Given the description of an element on the screen output the (x, y) to click on. 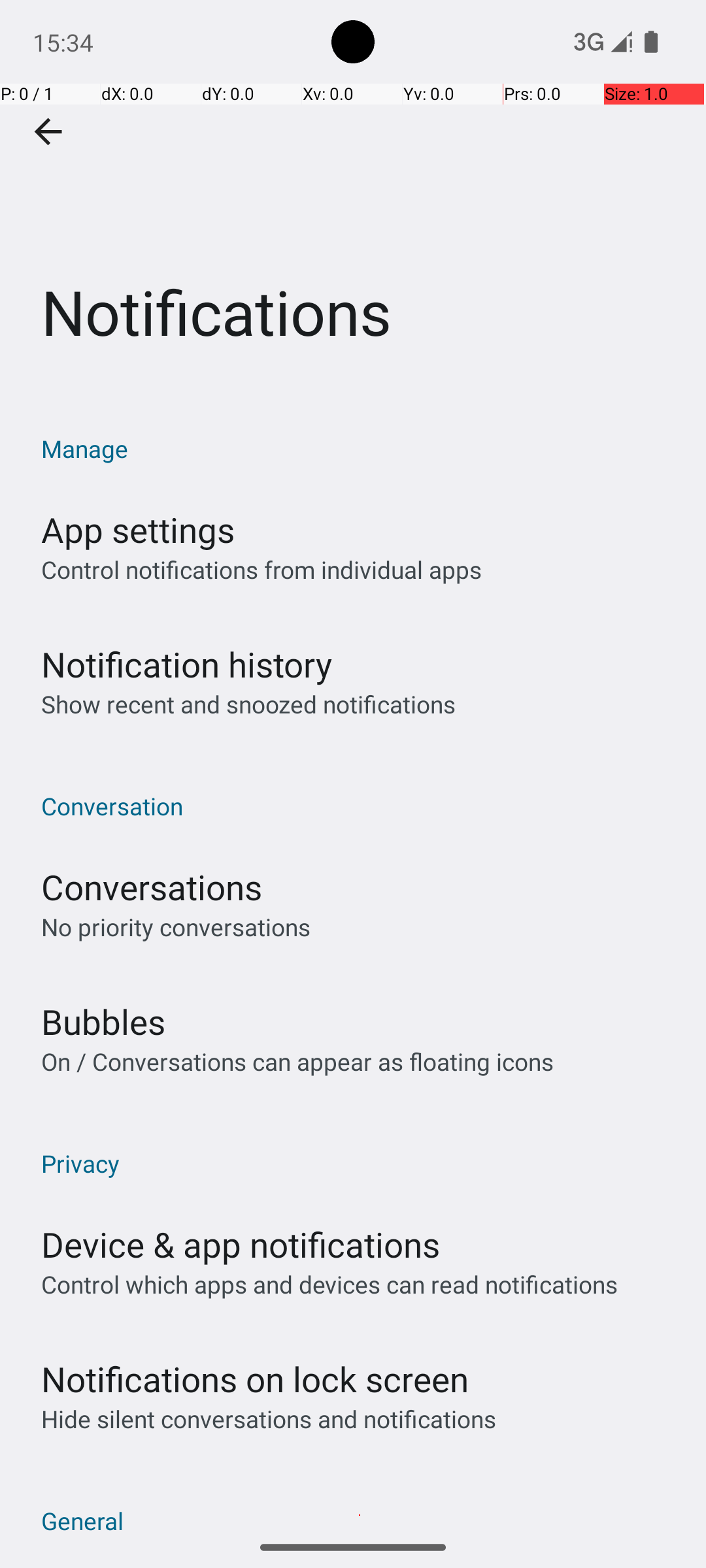
Manage Element type: android.widget.TextView (359, 448)
App settings Element type: android.widget.TextView (137, 529)
Control notifications from individual apps Element type: android.widget.TextView (261, 569)
Notification history Element type: android.widget.TextView (186, 663)
Show recent and snoozed notifications Element type: android.widget.TextView (248, 703)
Conversation Element type: android.widget.TextView (359, 805)
Conversations Element type: android.widget.TextView (151, 886)
No priority conversations Element type: android.widget.TextView (175, 926)
Bubbles Element type: android.widget.TextView (103, 1021)
On / Conversations can appear as floating icons Element type: android.widget.TextView (297, 1061)
Privacy Element type: android.widget.TextView (359, 1162)
Device & app notifications Element type: android.widget.TextView (240, 1244)
Control which apps and devices can read notifications Element type: android.widget.TextView (329, 1283)
Notifications on lock screen Element type: android.widget.TextView (254, 1378)
Hide silent conversations and notifications Element type: android.widget.TextView (268, 1418)
